Given the description of an element on the screen output the (x, y) to click on. 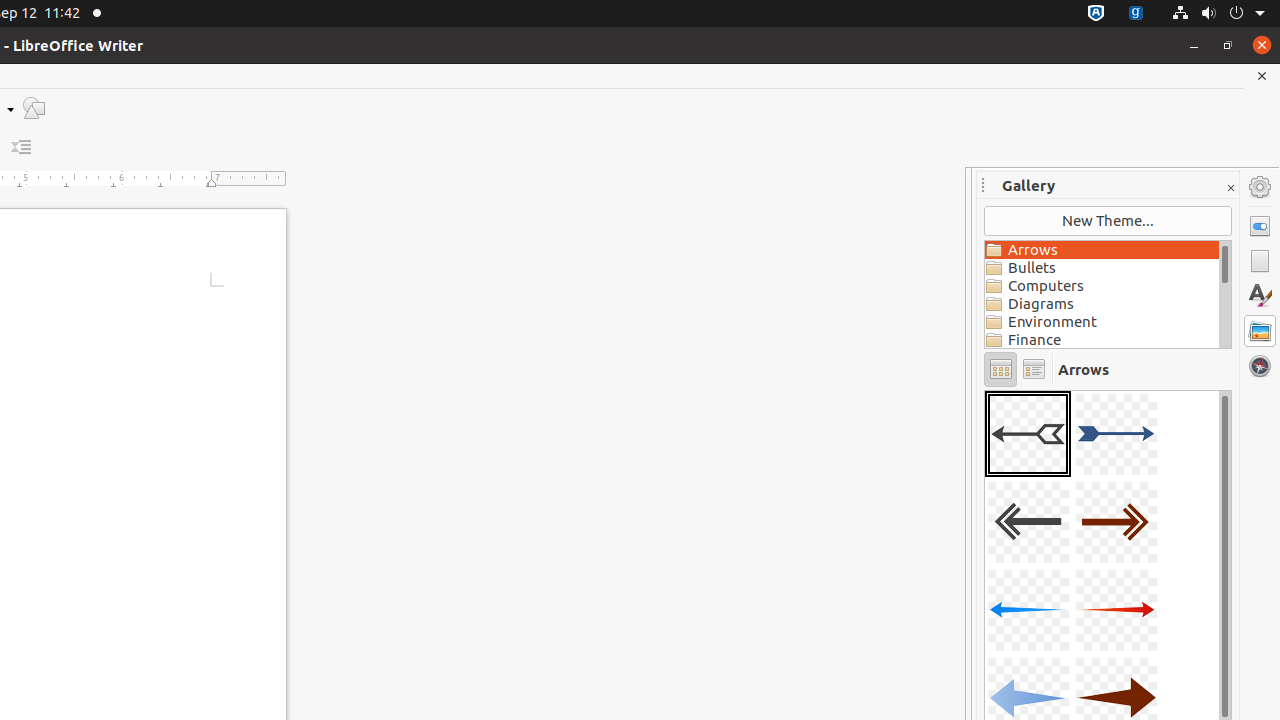
Icon View Element type: toggle-button (1000, 369)
A04-Arrow-DarkRed-Right Element type: list-item (1116, 522)
A24-CurvedArrow-LightBlue-Right Element type: list-item (985, 390)
Draw Functions Element type: push-button (33, 108)
Properties Element type: radio-button (1260, 226)
